Given the description of an element on the screen output the (x, y) to click on. 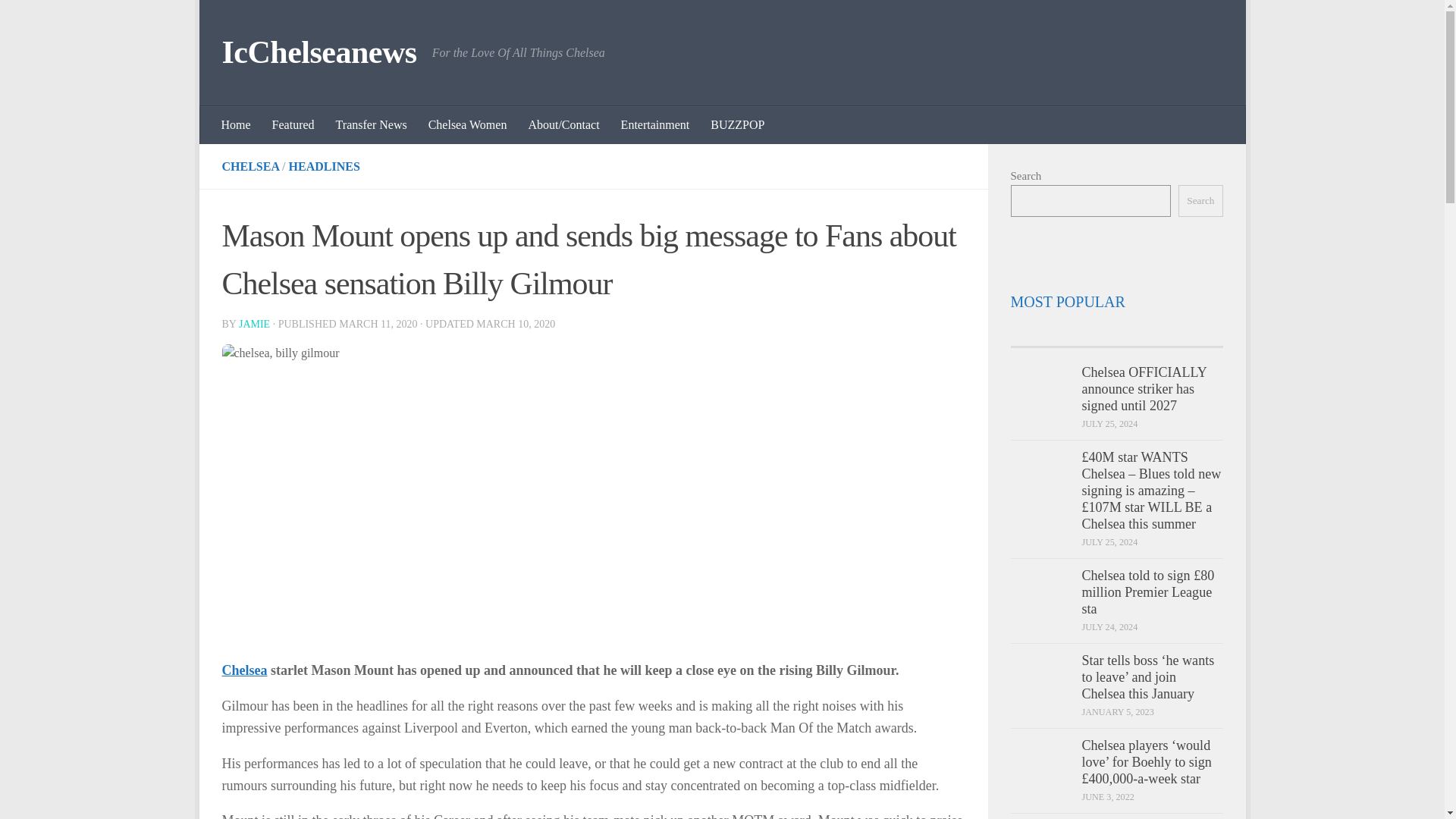
Search (1200, 201)
Recent Comments (1142, 331)
BUZZPOP (737, 125)
Chelsea Women (467, 125)
Transfer News (370, 125)
Chelsea (243, 670)
Popular Posts (1089, 331)
Posts by Jamie (253, 324)
Recent Posts (1036, 331)
IcChelseanews (318, 53)
Below content (255, 20)
CHELSEA (250, 165)
Tags (1196, 331)
HEADLINES (323, 165)
Featured (293, 125)
